Given the description of an element on the screen output the (x, y) to click on. 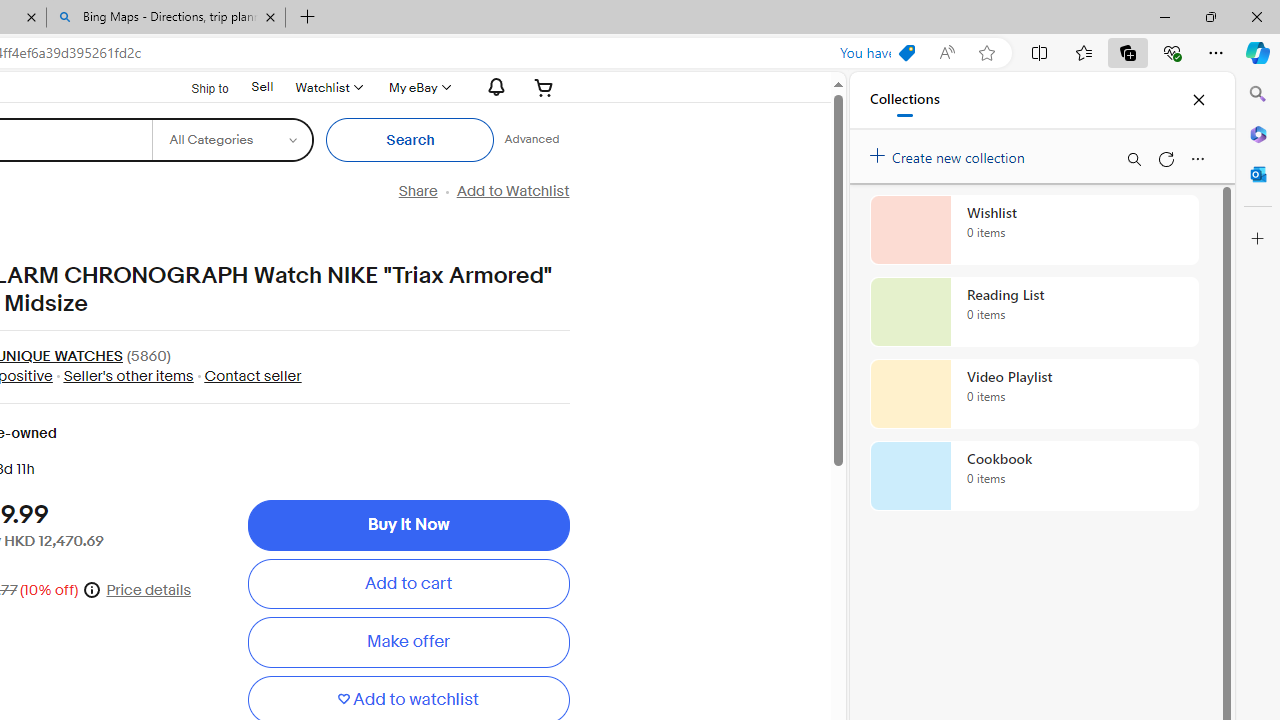
More options menu (1197, 158)
Share (417, 191)
Wishlist collection, 0 items (1034, 229)
Video Playlist collection, 0 items (1034, 394)
Advanced Search (531, 139)
Ship to (197, 85)
Add to Watchlist (512, 191)
Select a category for search (232, 139)
